Given the description of an element on the screen output the (x, y) to click on. 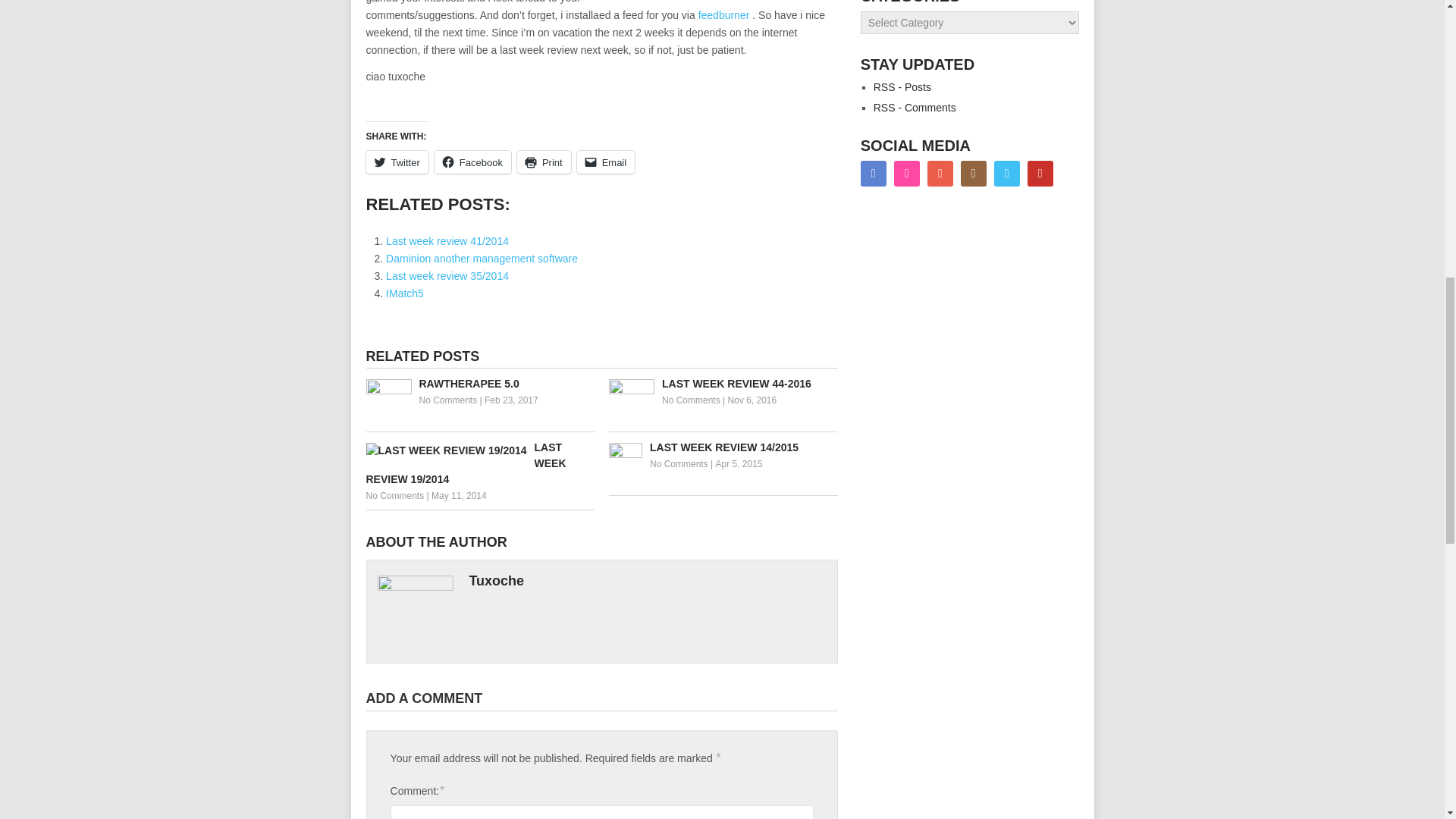
Email (605, 161)
Print (543, 161)
Click to share on Twitter (396, 161)
feedburner (723, 15)
Click to print (543, 161)
Click to email a link to a friend (605, 161)
Click to share on Facebook (472, 161)
IMatch5 (404, 293)
Daminion another management software (481, 258)
Twitter (396, 161)
